Given the description of an element on the screen output the (x, y) to click on. 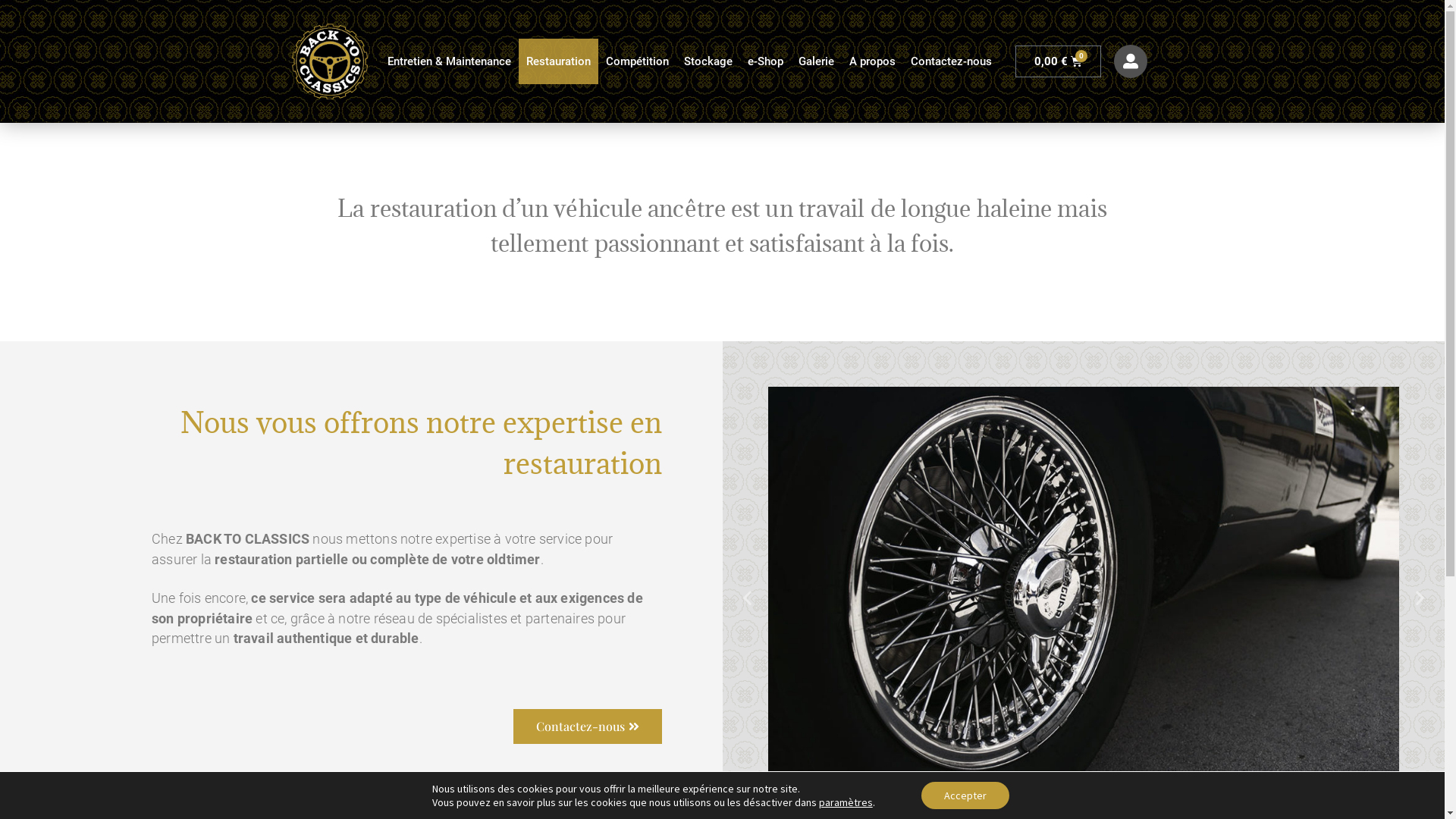
Accepter Element type: text (965, 795)
Restauration Element type: text (558, 61)
Contactez-nous Element type: text (951, 61)
Galerie Element type: text (815, 61)
A propos Element type: text (872, 61)
e-Shop Element type: text (765, 61)
Stockage Element type: text (708, 61)
Contactez-nous Element type: text (586, 726)
Entretien & Maintenance Element type: text (448, 61)
